Given the description of an element on the screen output the (x, y) to click on. 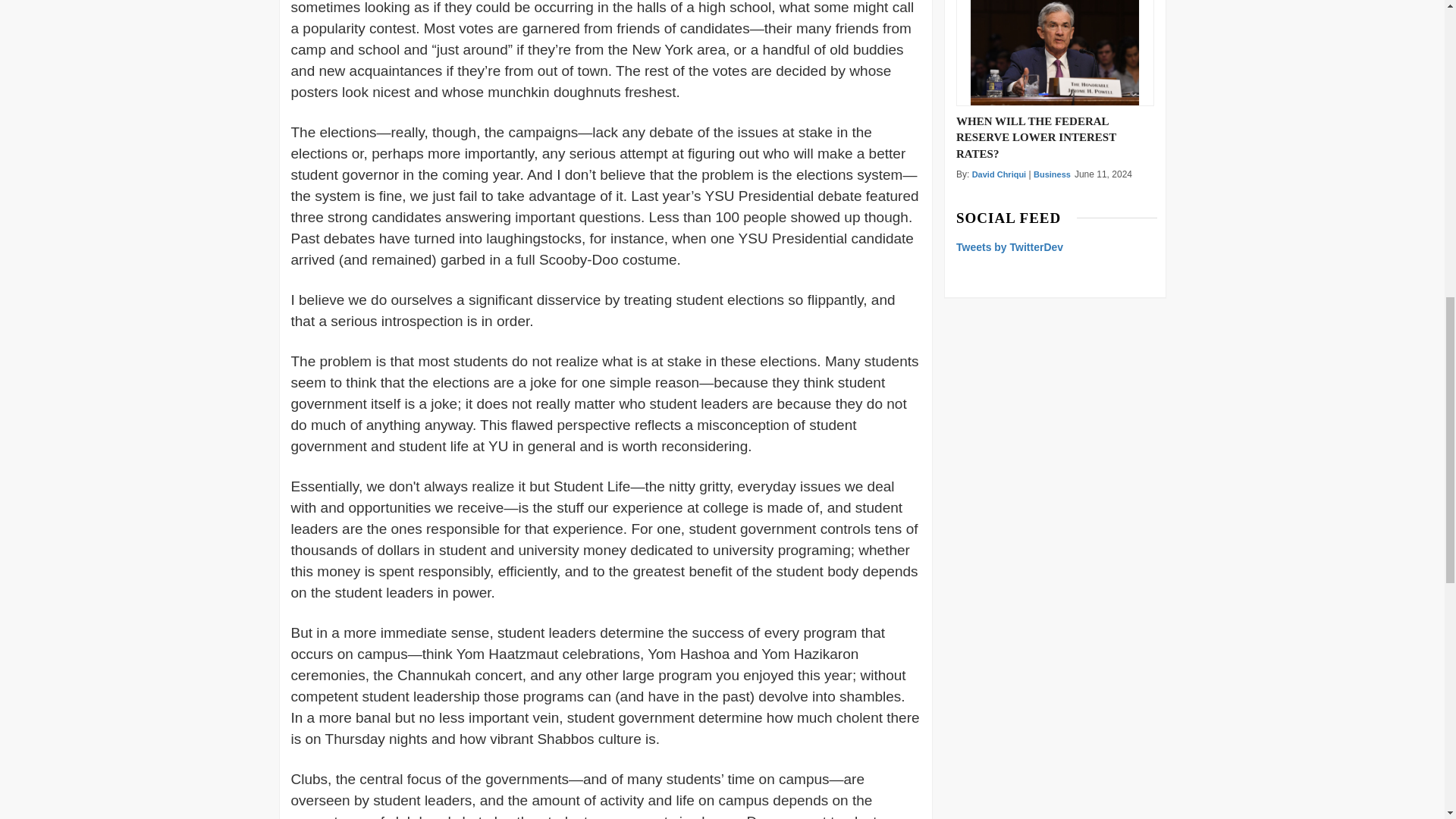
Tweets by TwitterDev (1009, 246)
Business (1051, 174)
When Will The Federal Reserve Lower Interest Rates? (1054, 52)
WHEN WILL THE FEDERAL RESERVE LOWER INTEREST RATES? (1055, 136)
David Chriqui (999, 174)
